Given the description of an element on the screen output the (x, y) to click on. 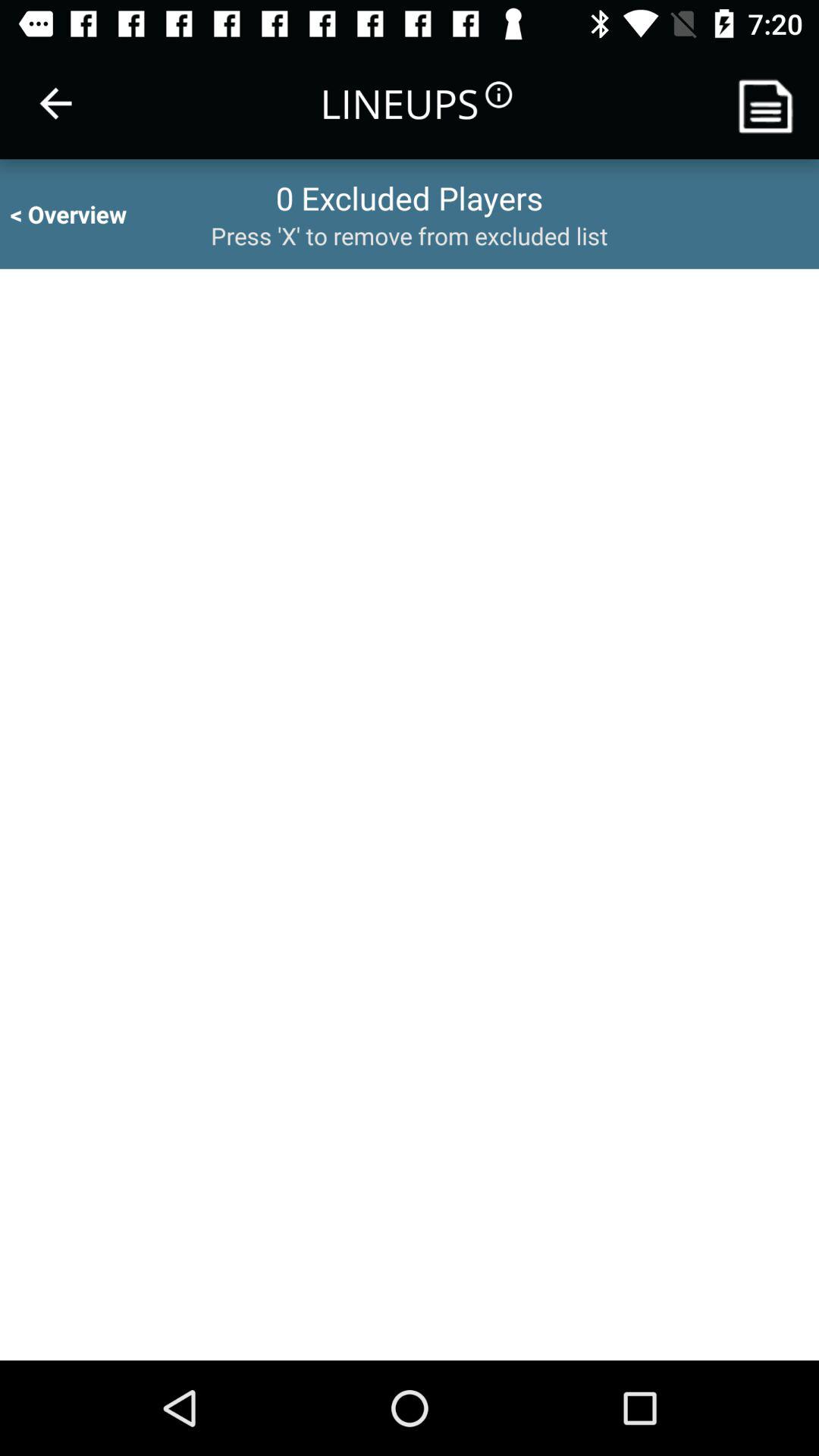
choose the item to the left of the lineups icon (55, 103)
